Given the description of an element on the screen output the (x, y) to click on. 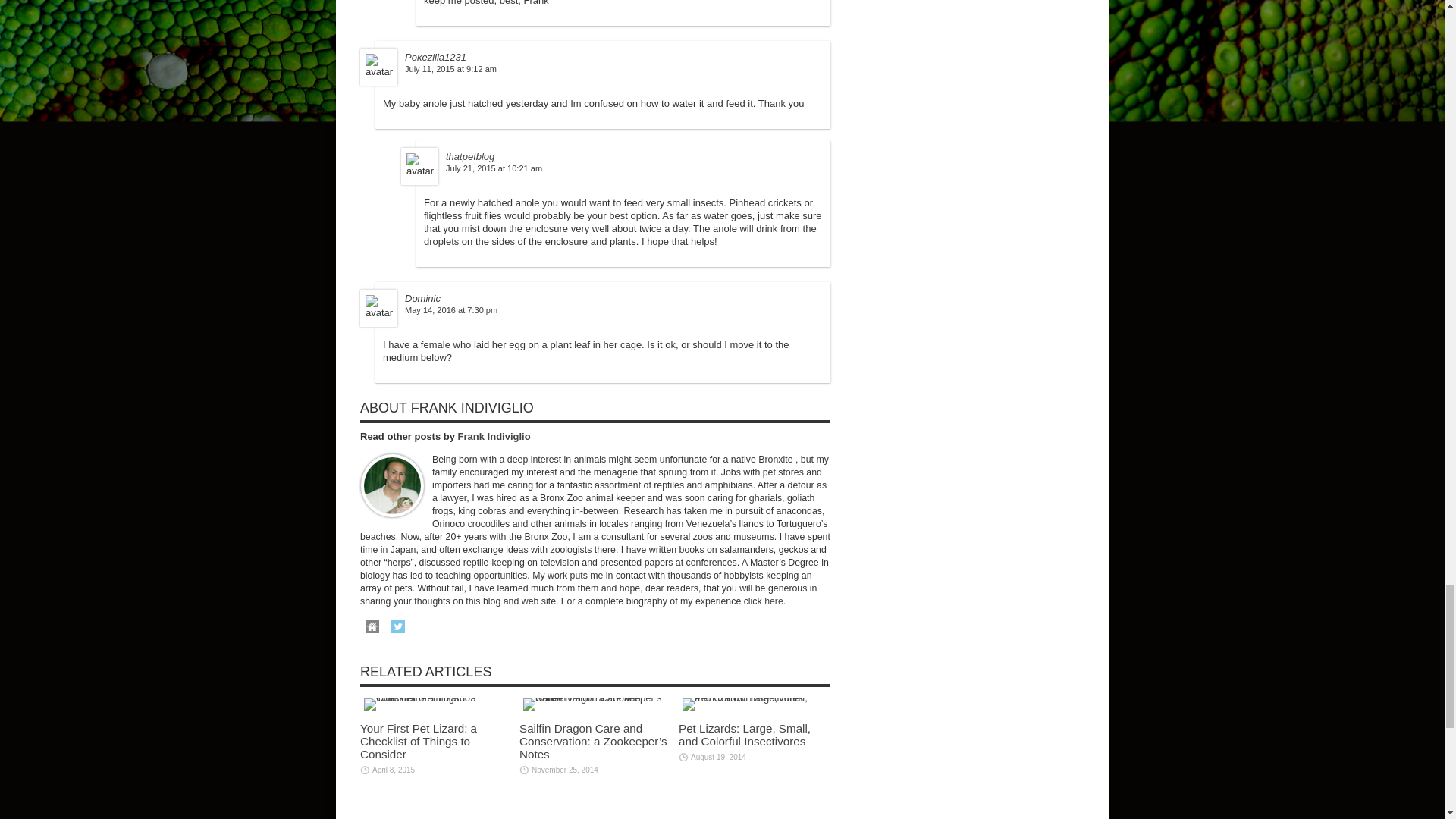
Posts by Frank Indiviglio (494, 436)
Your First Pet Lizard: a Checklist of Things to Consider (435, 704)
Pet Lizards: Large, Small, and Colorful Insectivores (753, 704)
